Given the description of an element on the screen output the (x, y) to click on. 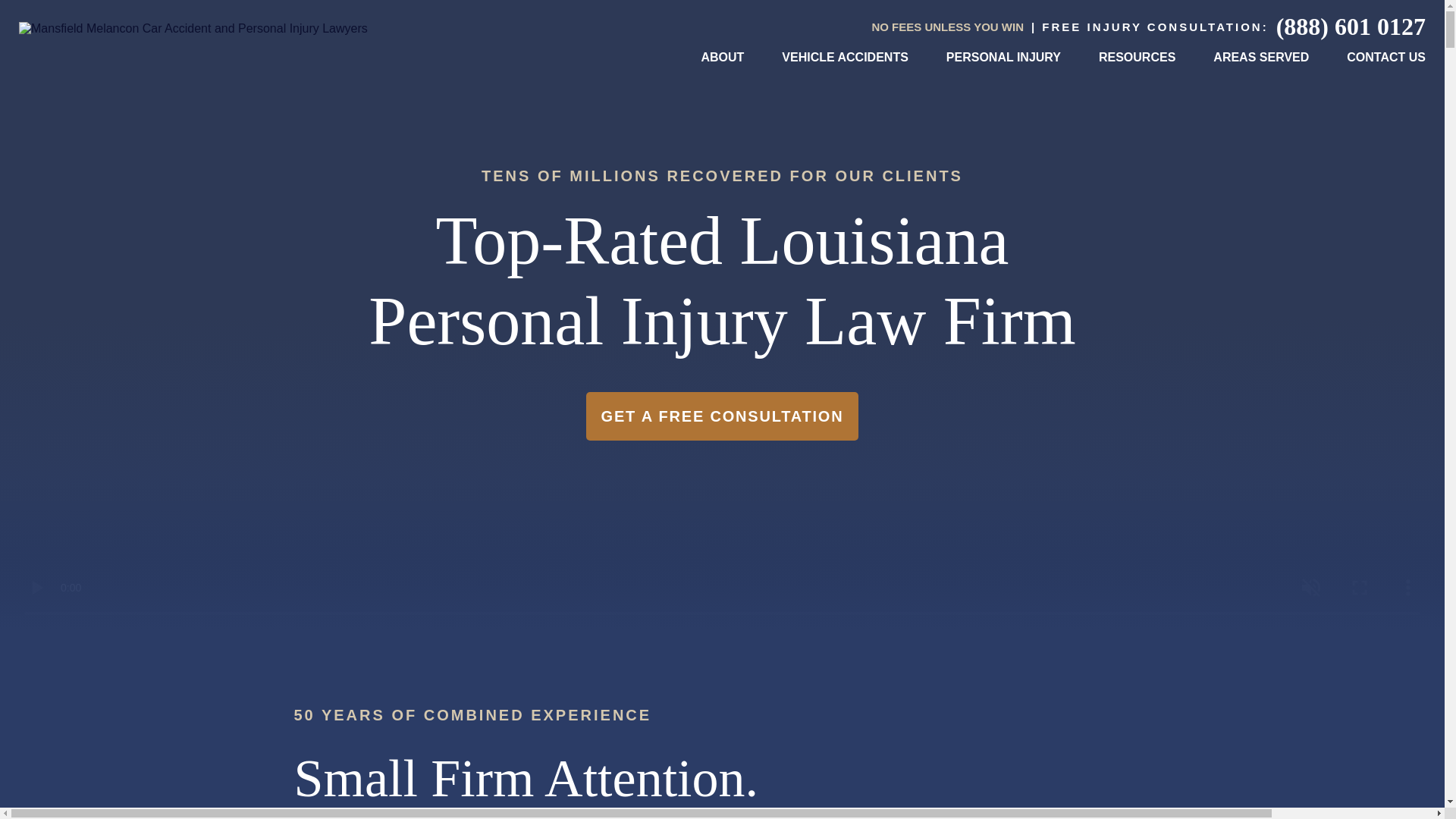
RESOURCES (1136, 56)
PERSONAL INJURY (1003, 56)
VEHICLE ACCIDENTS (844, 56)
GET A FREE CONSULTATION (722, 416)
AREAS SERVED (1260, 56)
ABOUT (721, 56)
CONTACT US (1385, 56)
